Given the description of an element on the screen output the (x, y) to click on. 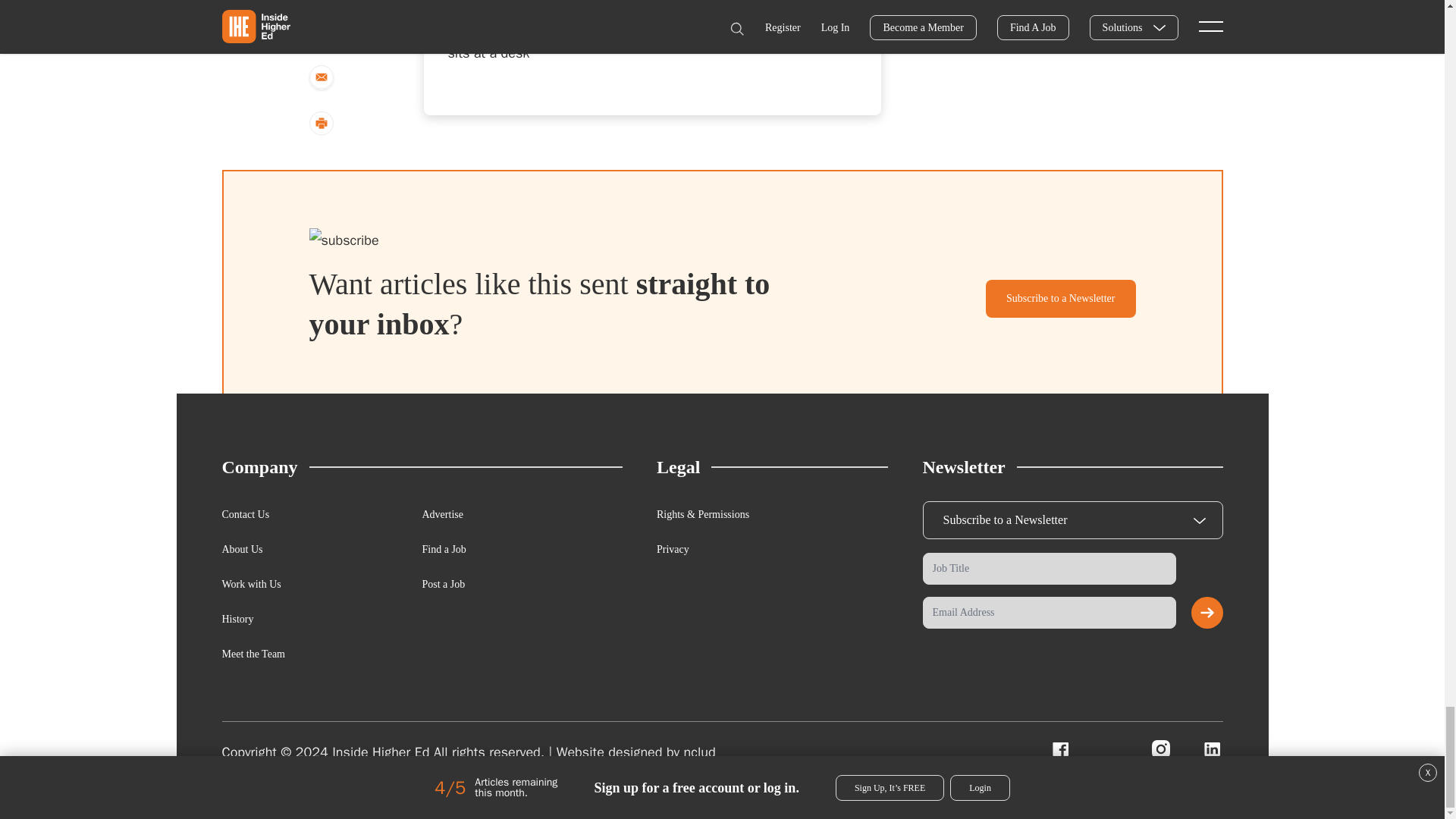
Submit (1207, 612)
